Given the description of an element on the screen output the (x, y) to click on. 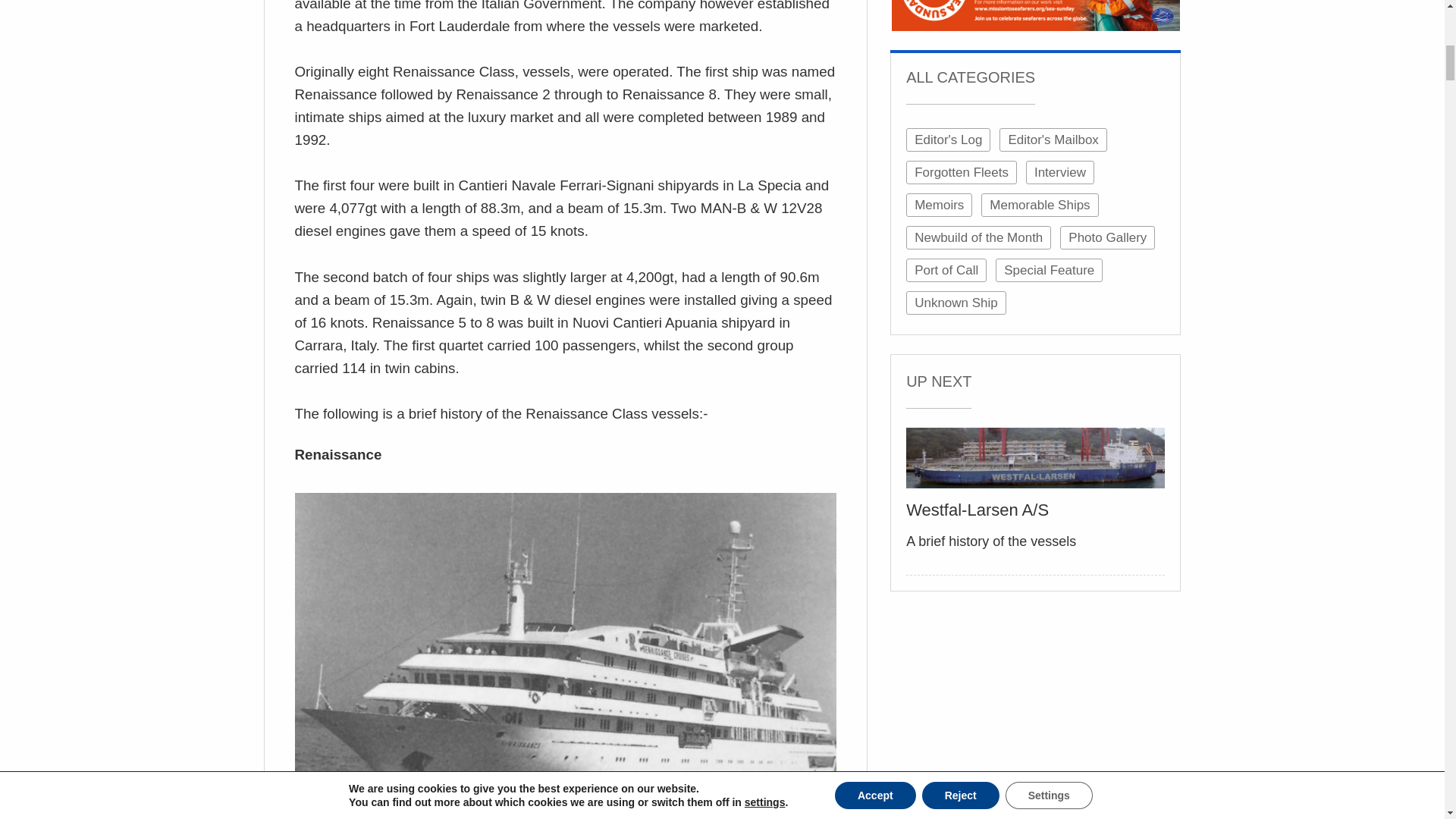
View article (1034, 457)
